Given the description of an element on the screen output the (x, y) to click on. 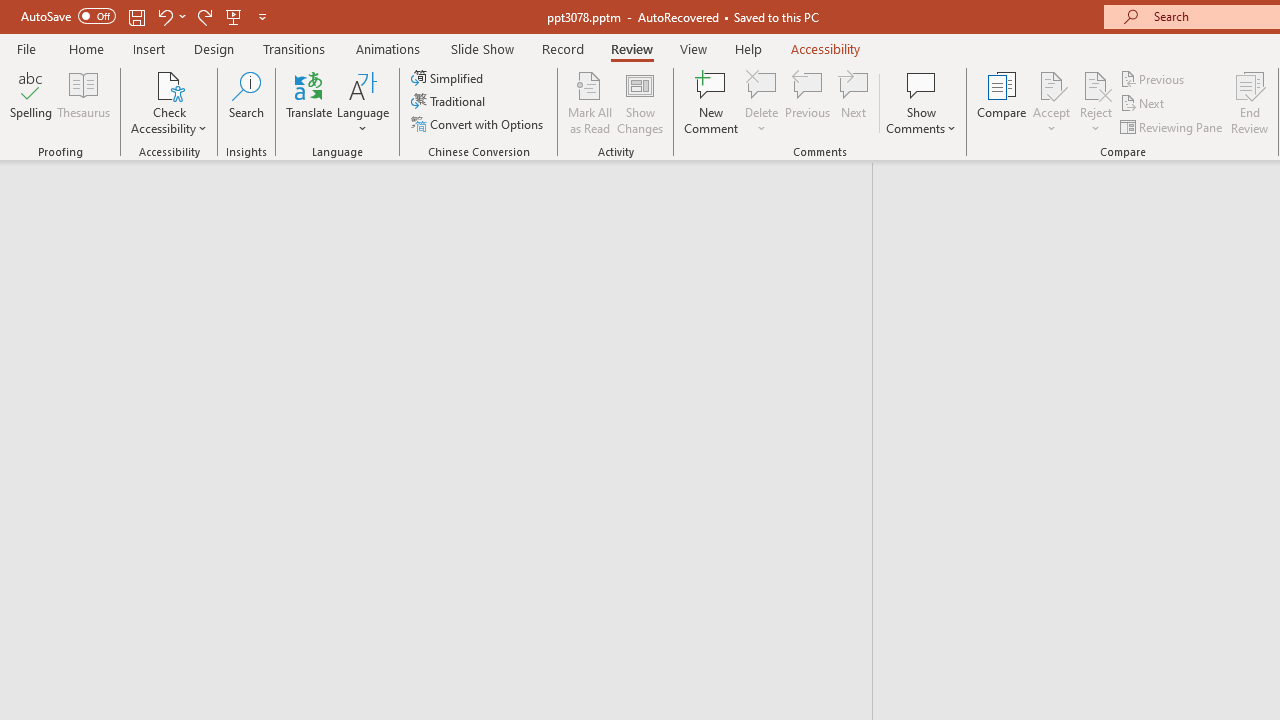
Accept (1051, 102)
Mark All as Read (589, 102)
